Given the description of an element on the screen output the (x, y) to click on. 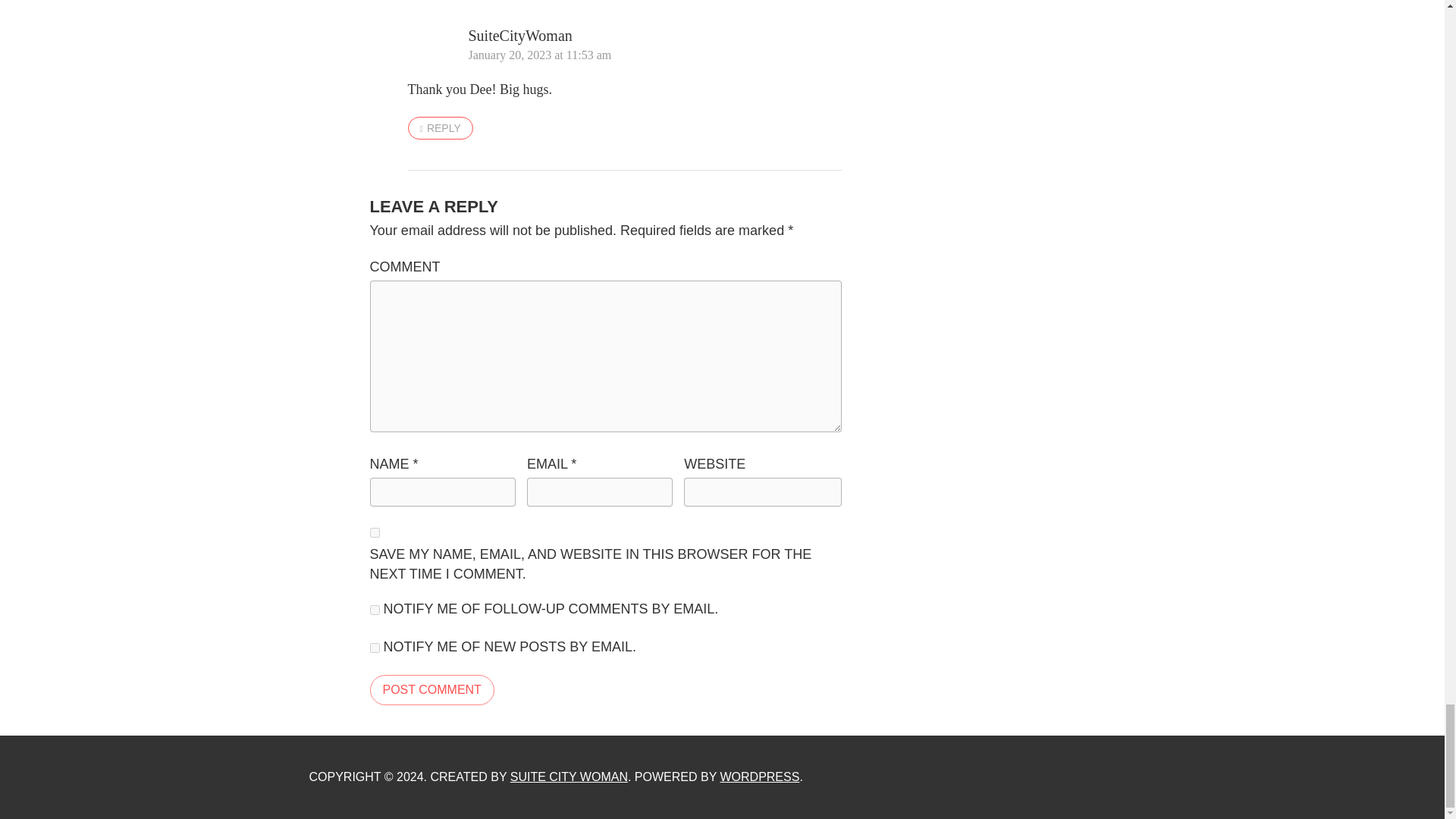
January 20, 2023 at 11:53 am (539, 54)
Post Comment (432, 689)
REPLY (440, 128)
subscribe (374, 610)
SUITE CITY WOMAN (569, 776)
Post Comment (432, 689)
subscribe (374, 647)
yes (374, 532)
WORDPRESS (759, 776)
